Given the description of an element on the screen output the (x, y) to click on. 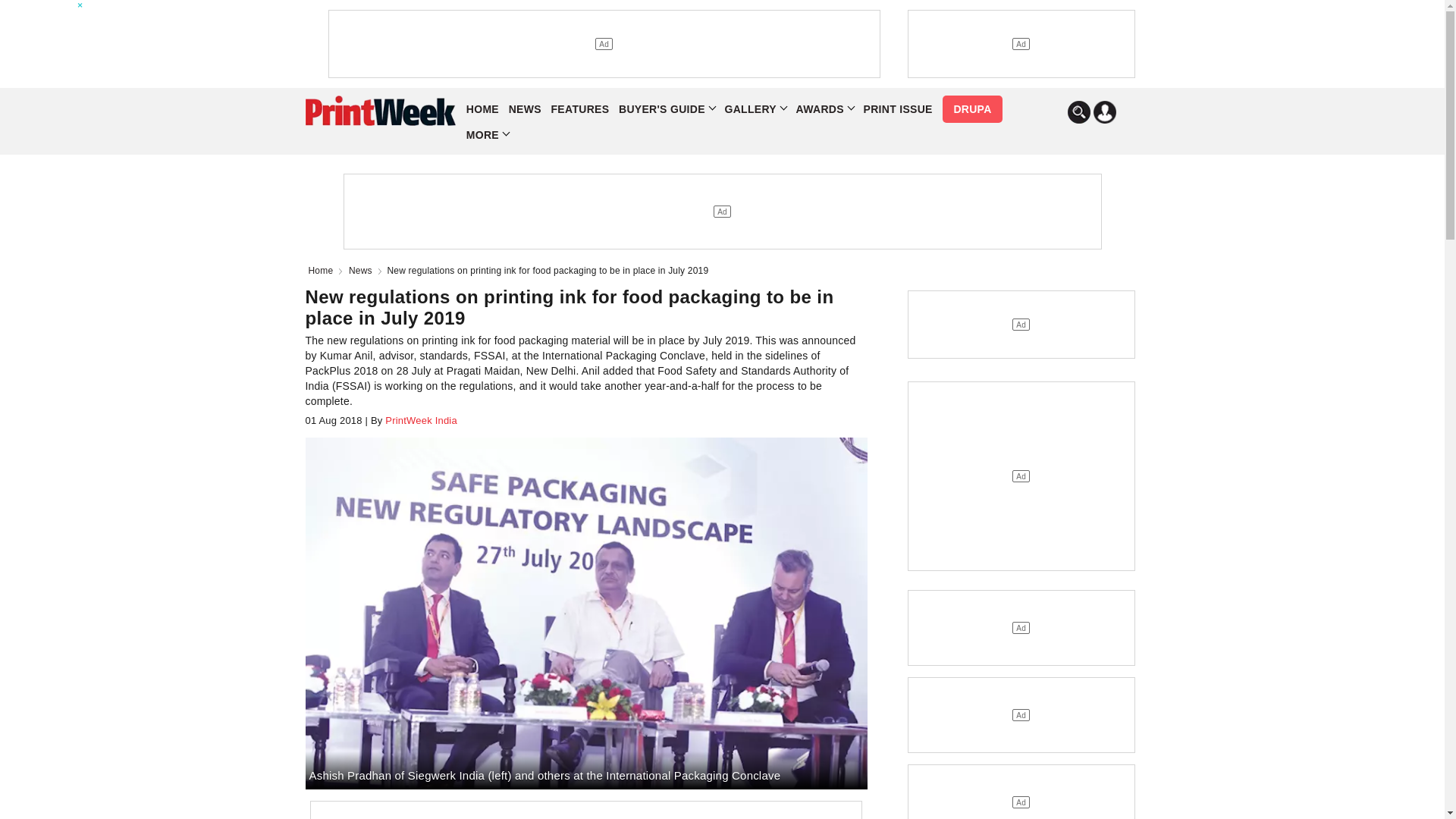
MORE (487, 134)
Home (323, 270)
FEATURES (580, 109)
HOME (482, 109)
PRINT ISSUE (897, 109)
Print Issue (897, 109)
DRUPA (971, 108)
PrintWeek India (419, 419)
News (363, 270)
Buyer's Guide (666, 109)
